Given the description of an element on the screen output the (x, y) to click on. 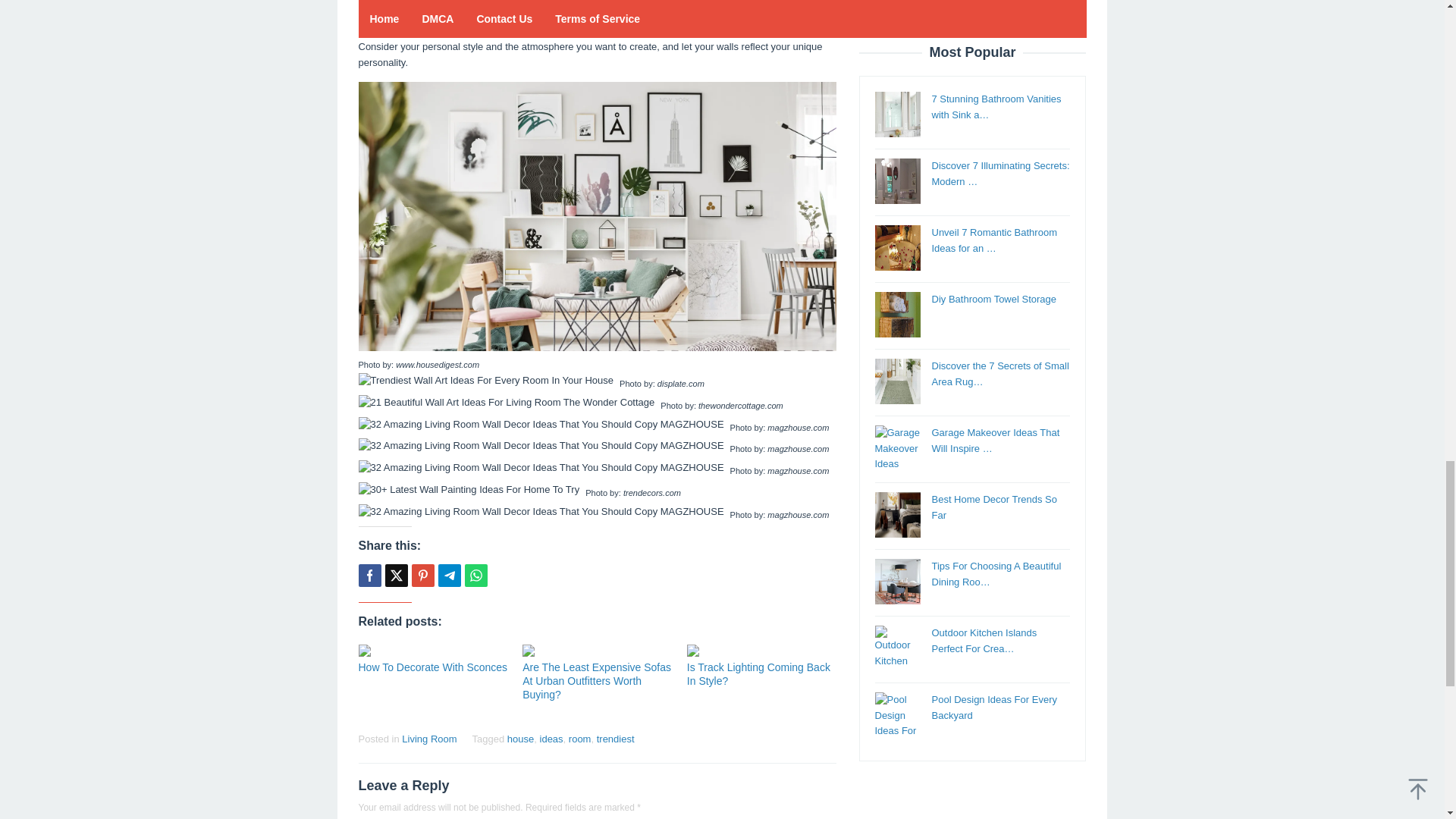
How To Decorate With Sconces (432, 666)
Trendiest Wall Art Ideas For Every Room In Your House (485, 381)
house (520, 738)
Telegram Share (449, 575)
Pin this (421, 575)
Permalink to: How To Decorate With Sconces (432, 666)
ideas (551, 738)
Is Track Lighting Coming Back In Style? (758, 673)
